Given the description of an element on the screen output the (x, y) to click on. 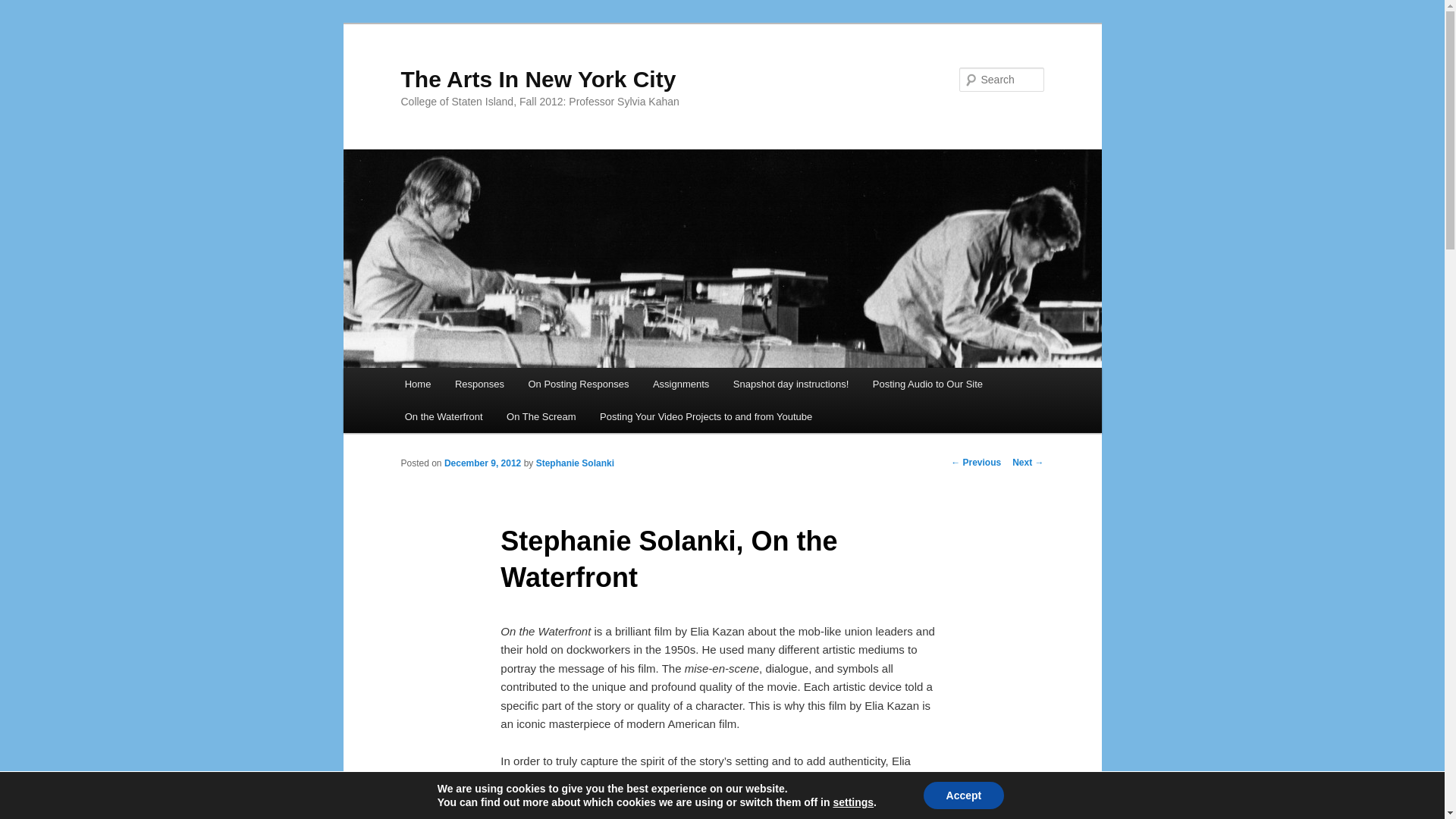
Home (417, 383)
5:36 pm (482, 462)
On The Scream (541, 416)
Search (24, 8)
Snapshot day instructions! (790, 383)
The Arts In New York City (537, 78)
Responses (479, 383)
View all posts by Stephanie Solanki (574, 462)
Posting Your Video Projects to and from Youtube (706, 416)
On Posting Responses (578, 383)
